Given the description of an element on the screen output the (x, y) to click on. 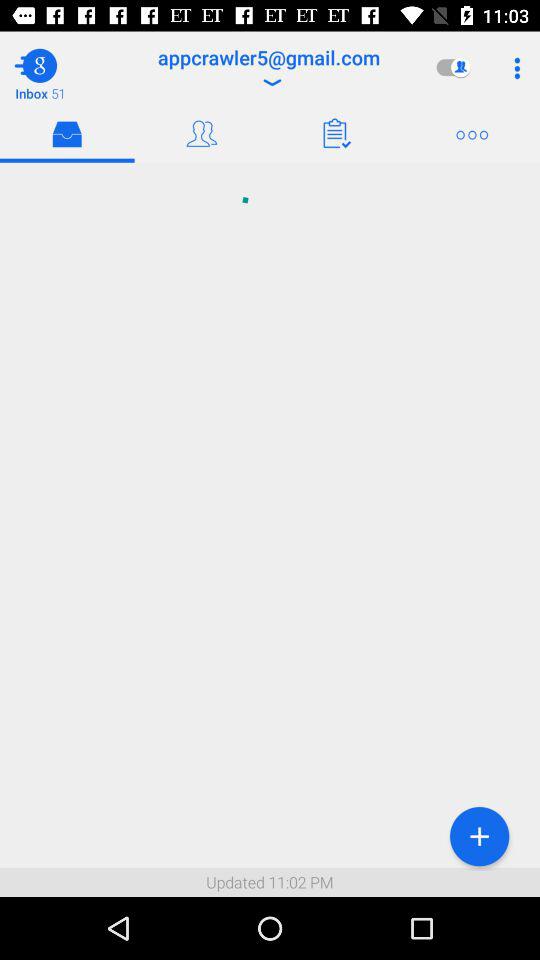
select item at the bottom right corner (479, 836)
